Given the description of an element on the screen output the (x, y) to click on. 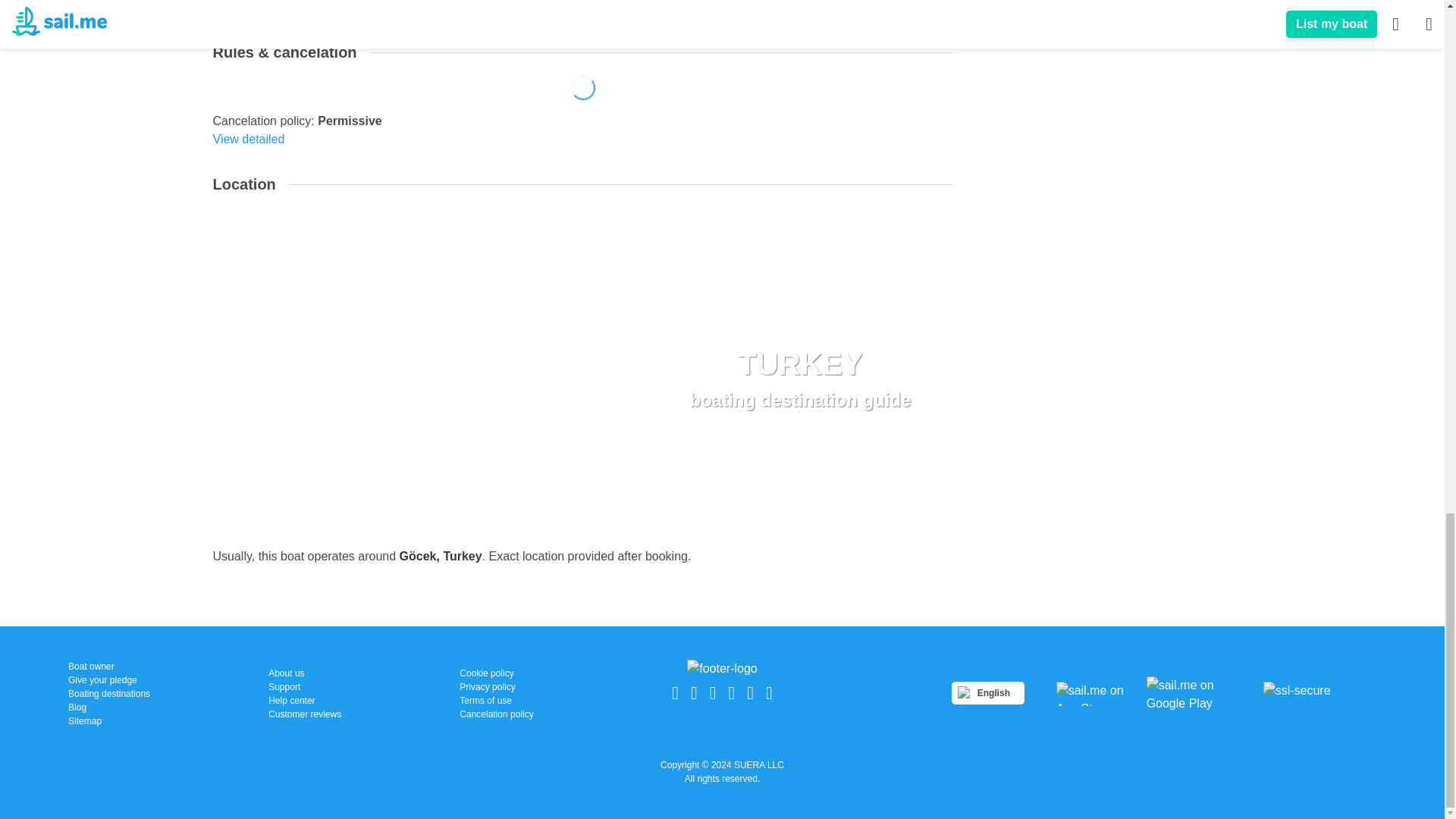
Blog (108, 707)
Message owner (264, 8)
Boat owner (108, 666)
Help center (303, 700)
Cookie policy (496, 673)
About us (799, 377)
Privacy policy (303, 673)
Customer reviews (496, 686)
Support (303, 714)
Terms of use (303, 686)
View detailed (496, 700)
Sitemap (247, 138)
Give your pledge (108, 721)
Cancelation policy (108, 680)
